Given the description of an element on the screen output the (x, y) to click on. 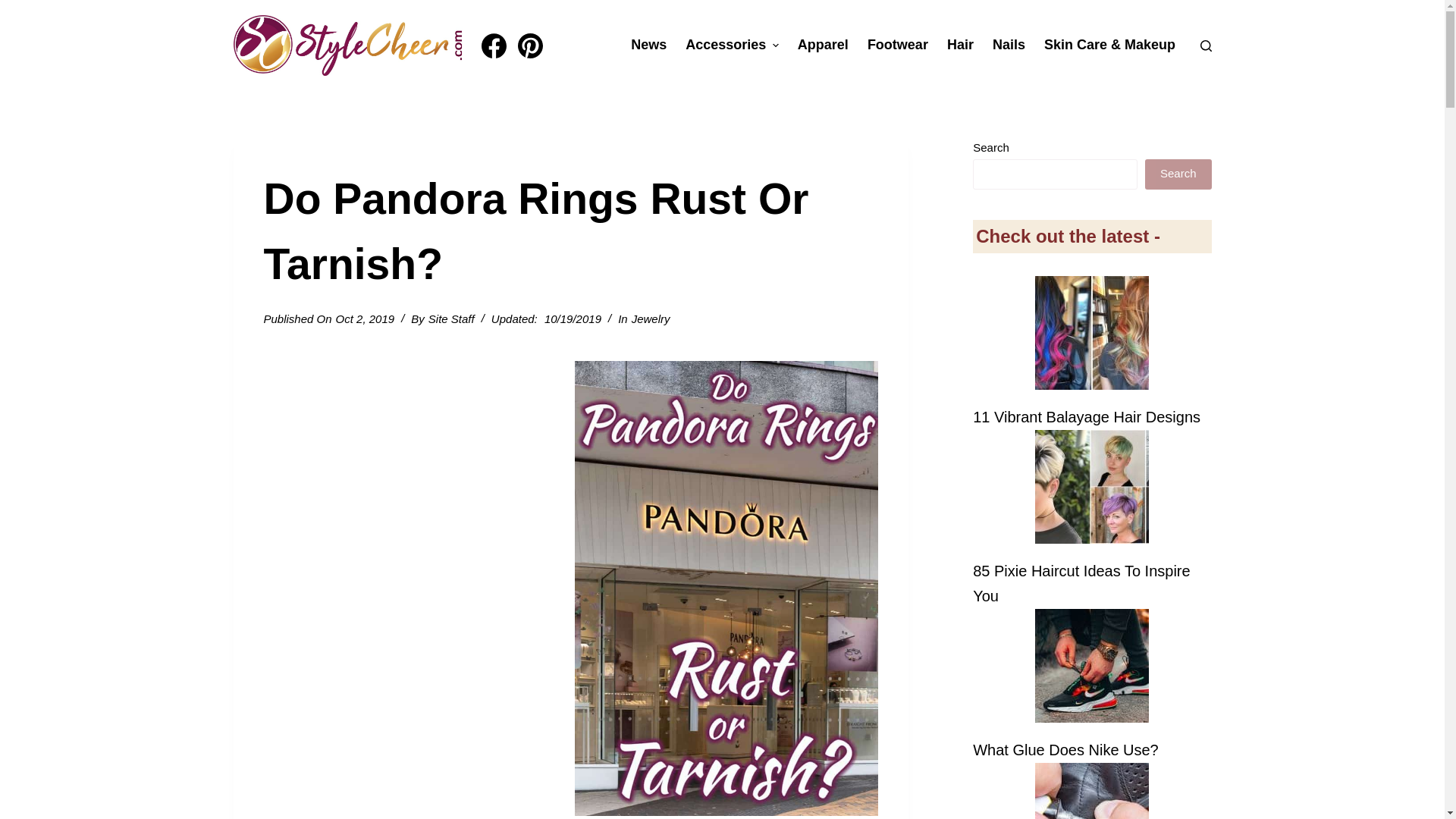
Accessories (733, 45)
News (649, 45)
Jewelry (650, 318)
Footwear (897, 45)
Nails (1007, 45)
Hair (959, 45)
Site Staff (451, 318)
Apparel (822, 45)
Skip to content (15, 7)
Posts by Site Staff (451, 318)
Do Pandora Rings Rust or Tarnish? (570, 231)
